Given the description of an element on the screen output the (x, y) to click on. 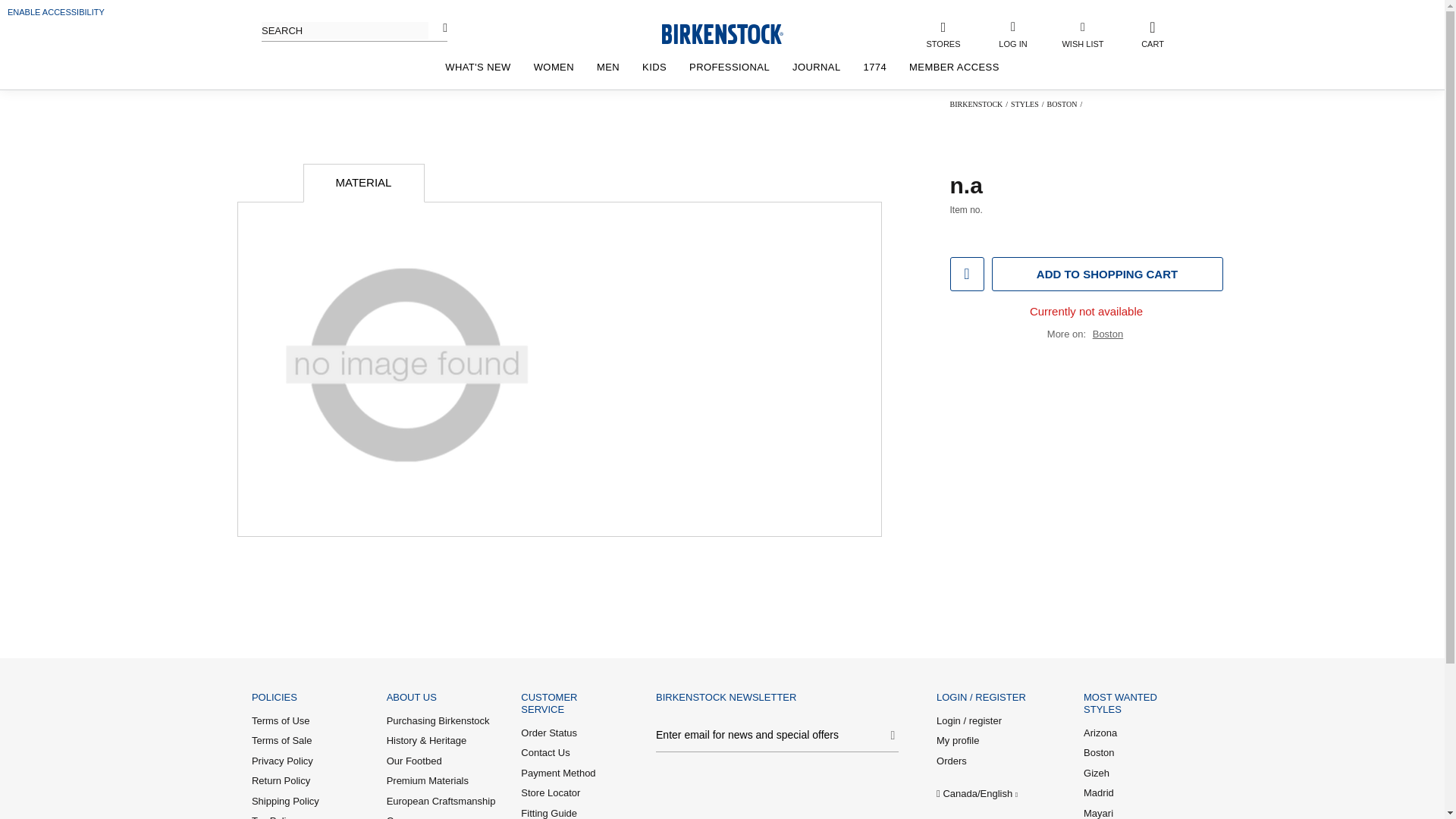
ENABLE ACCESSIBILITY (55, 11)
Styles (1024, 103)
WHAT'S NEW (478, 67)
My information (1012, 33)
Display wishlist (1082, 33)
WISH LIST (1082, 33)
Boston (1061, 103)
Log in (1033, 283)
Birkenstock (976, 103)
no image (406, 367)
Show shopping cart (1152, 33)
STORES (942, 33)
CART (1152, 33)
LOG IN (1012, 33)
